Given the description of an element on the screen output the (x, y) to click on. 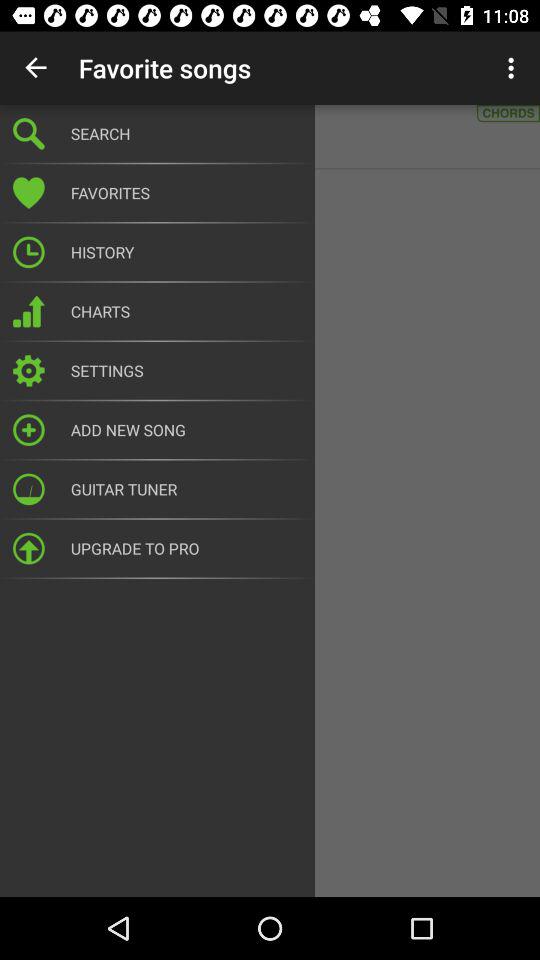
turn off the search (185, 133)
